Given the description of an element on the screen output the (x, y) to click on. 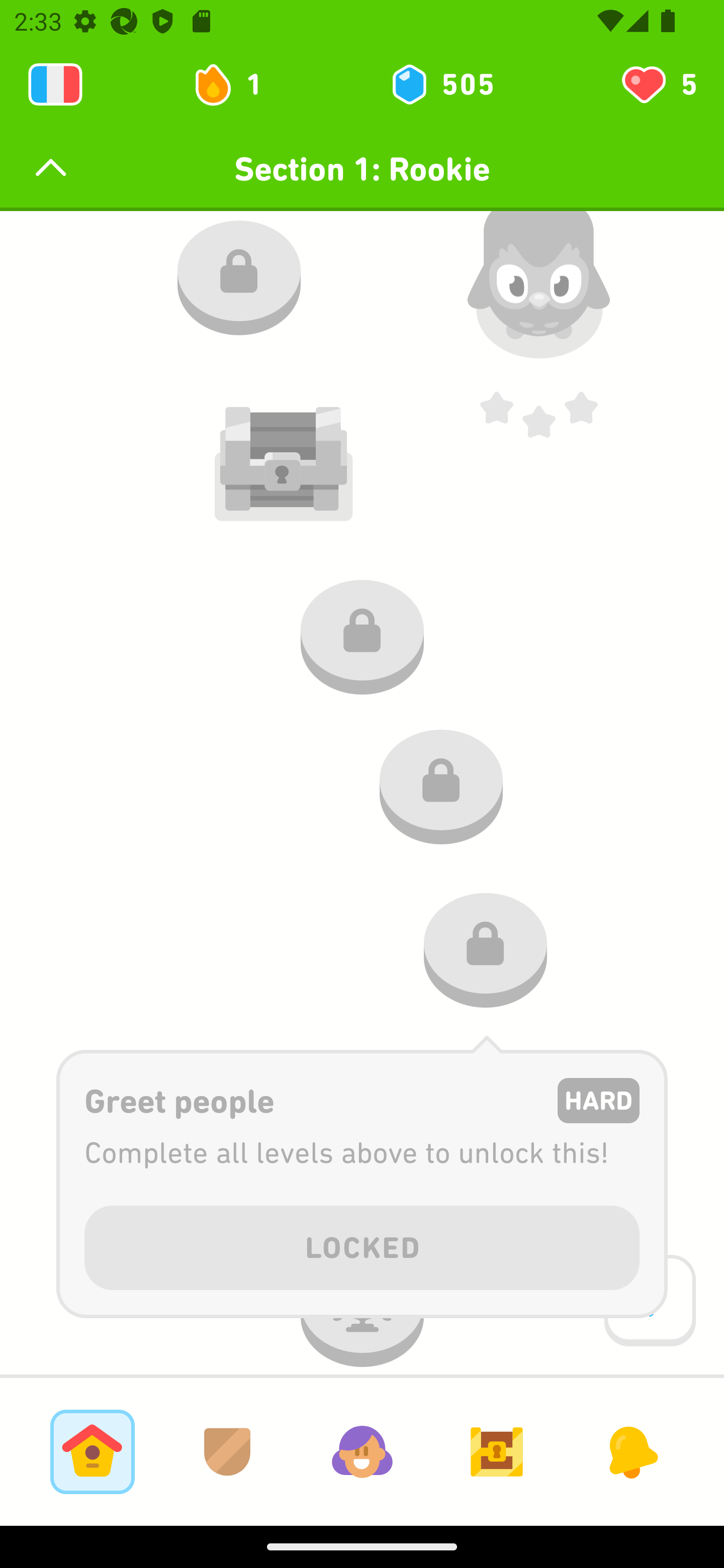
Learning 2131888976 (55, 84)
1 day streak 1 (236, 84)
505 (441, 84)
You have 5 hearts left 5 (657, 84)
Section 1: Rookie (362, 169)
LOCKED (361, 1243)
Learn Tab (91, 1451)
Leagues Tab (227, 1451)
Profile Tab (361, 1451)
Goals Tab (496, 1451)
News Tab (631, 1451)
